Given the description of an element on the screen output the (x, y) to click on. 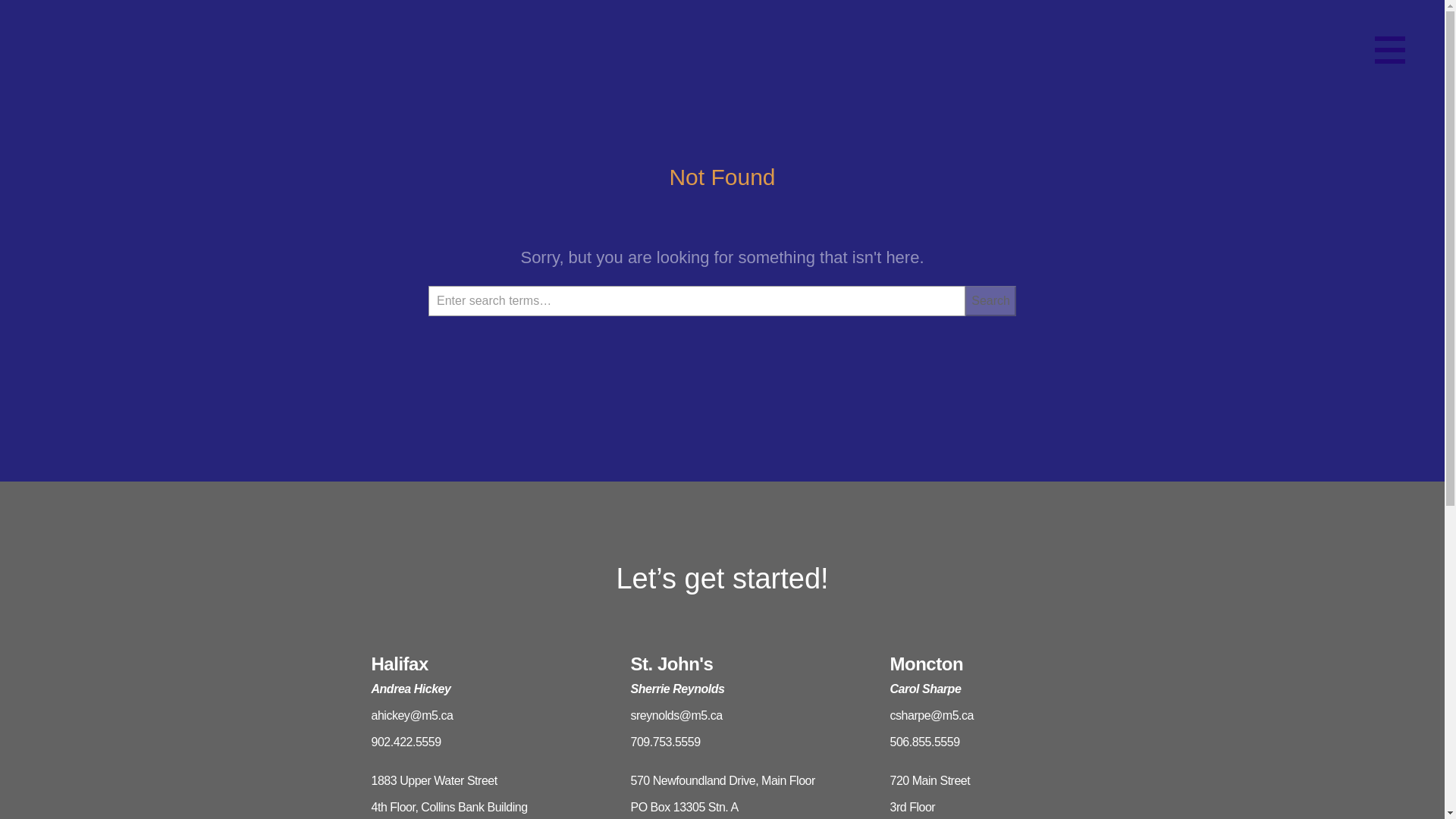
Search (990, 300)
Search (990, 300)
902.422.5559 (478, 741)
506.855.5559 (996, 741)
709.753.5559 (737, 741)
